Given the description of an element on the screen output the (x, y) to click on. 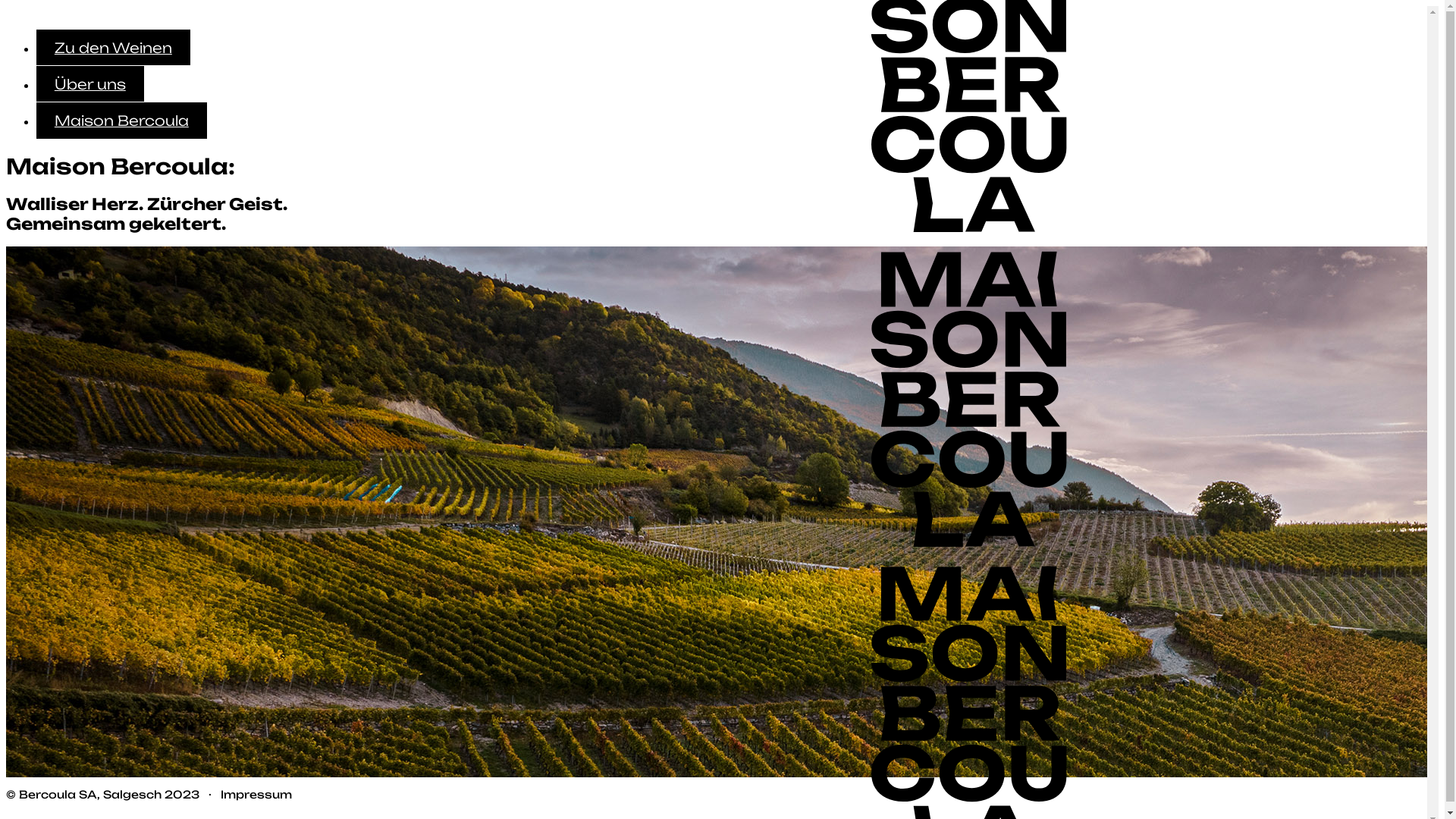
Impressum Element type: text (255, 793)
Maison Bercoula Element type: text (121, 120)
Zu den Weinen Element type: text (113, 47)
